Given the description of an element on the screen output the (x, y) to click on. 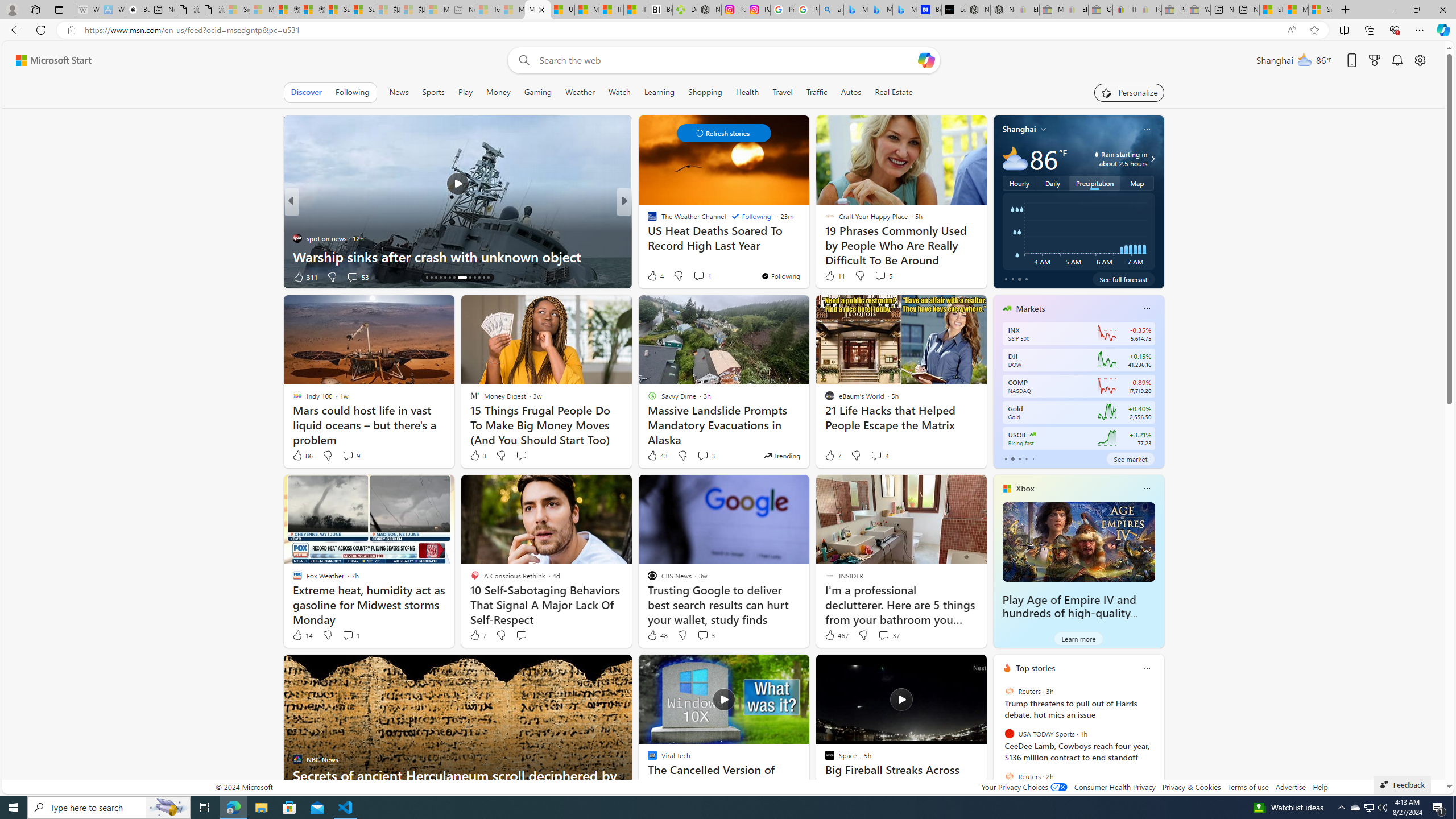
Yard, Garden & Outdoor Living - Sleeping (1197, 9)
View comments 35 Comment (703, 276)
'Pretty spectacular' discovery in George Washington's cellar (807, 247)
View comments 13 Comment (6, 276)
Xbox (1025, 488)
